Given the description of an element on the screen output the (x, y) to click on. 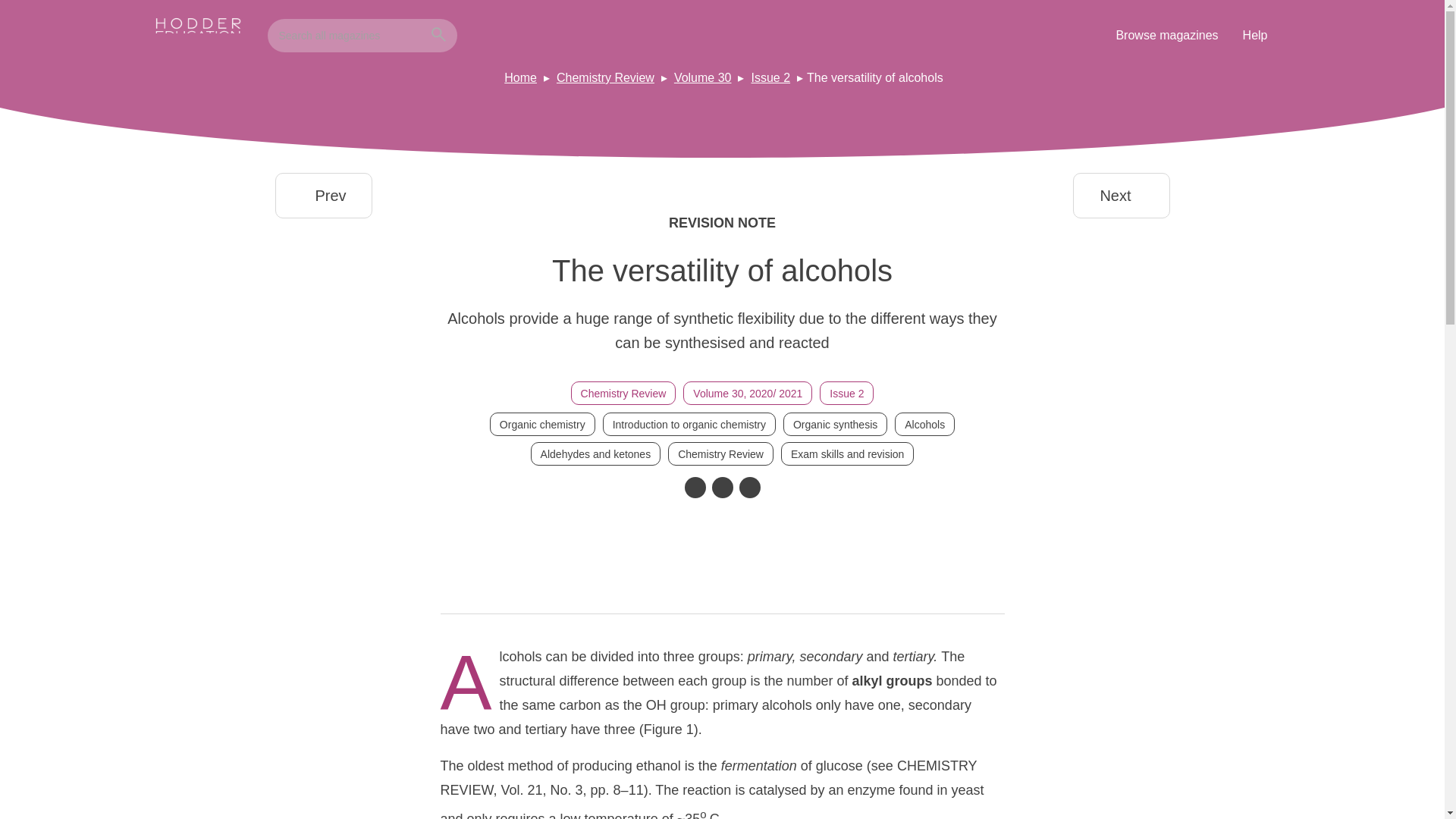
Introduction to organic chemistry (689, 423)
Organic synthesis (834, 423)
Alcohols (925, 423)
Chemistry Review (720, 454)
Organic chemistry (542, 423)
Chemistry Review (623, 392)
Prev (323, 195)
Help (1254, 35)
Home (520, 77)
Chemistry Review (605, 77)
